Given the description of an element on the screen output the (x, y) to click on. 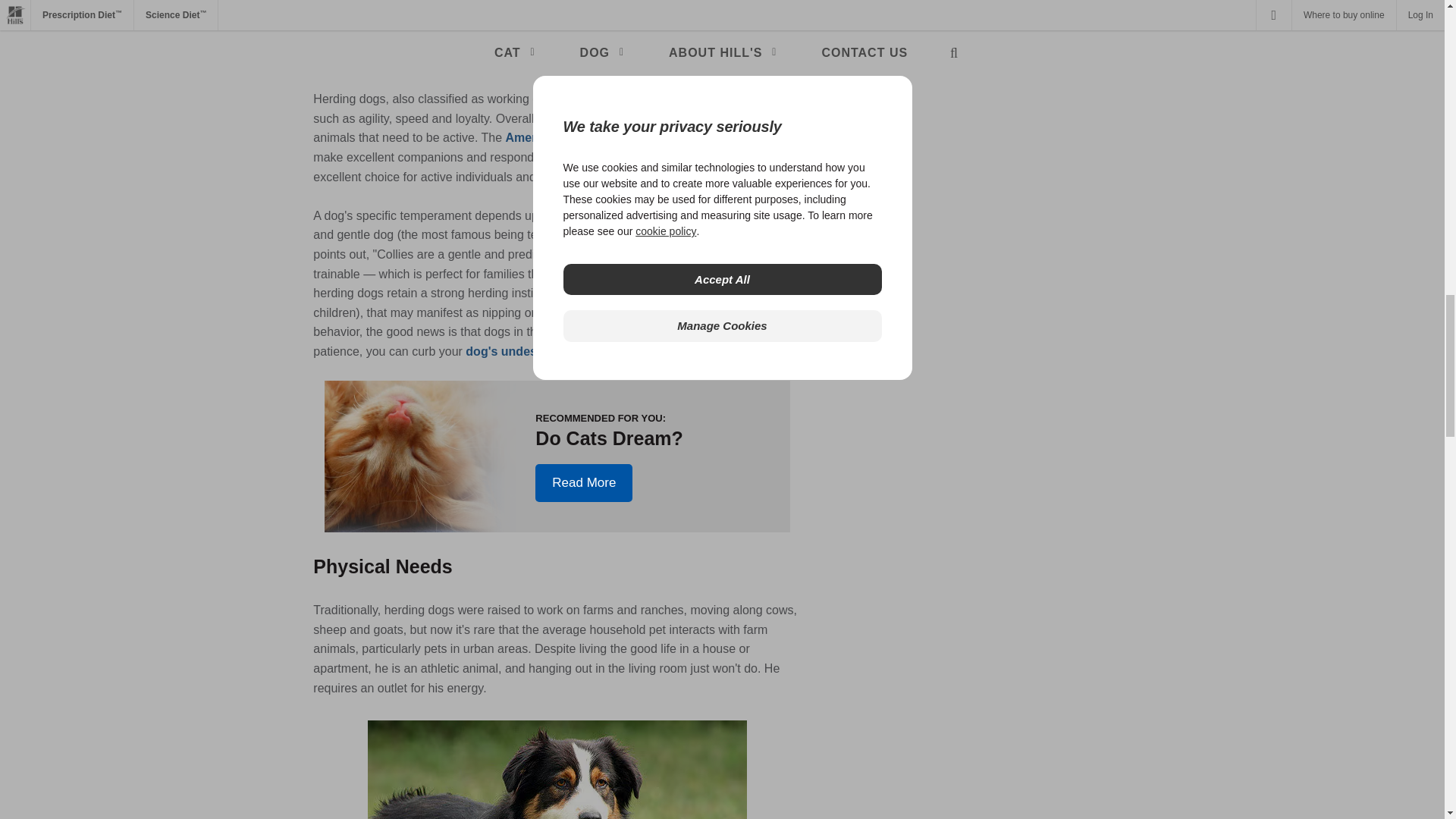
black-australia-shepherd (557, 769)
